Given the description of an element on the screen output the (x, y) to click on. 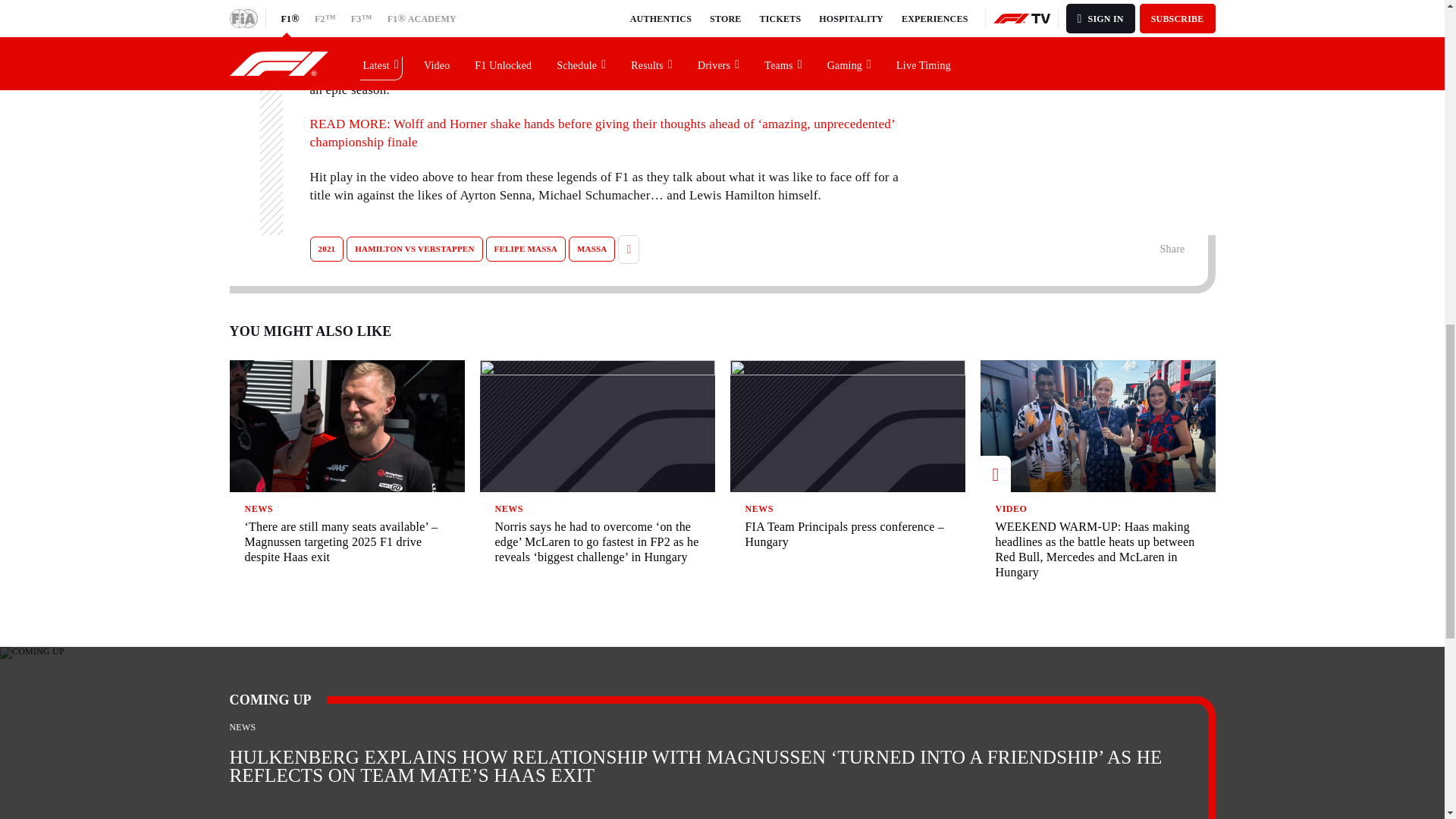
go head-to-head (784, 52)
